Given the description of an element on the screen output the (x, y) to click on. 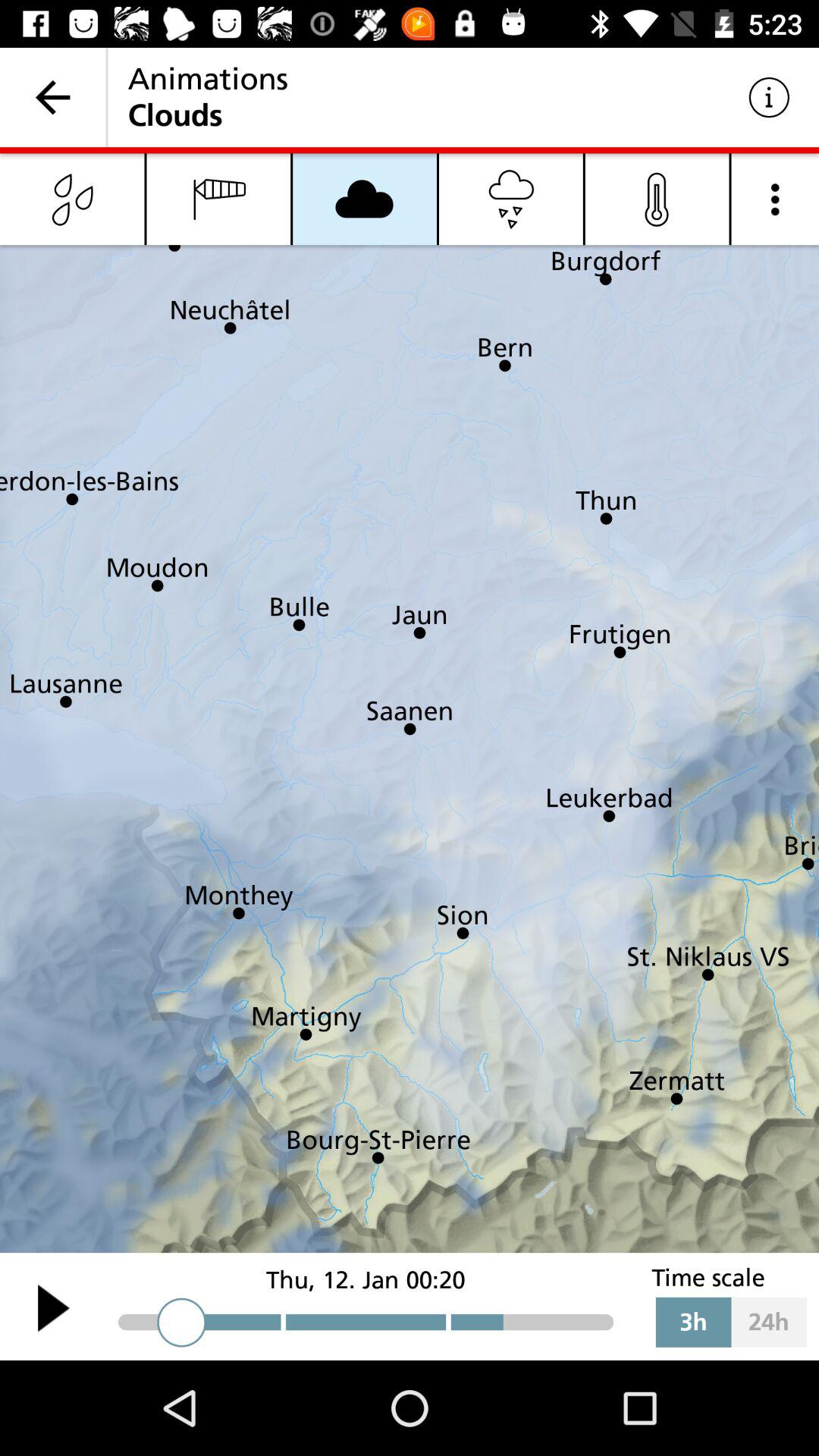
show additional options (775, 199)
